Given the description of an element on the screen output the (x, y) to click on. 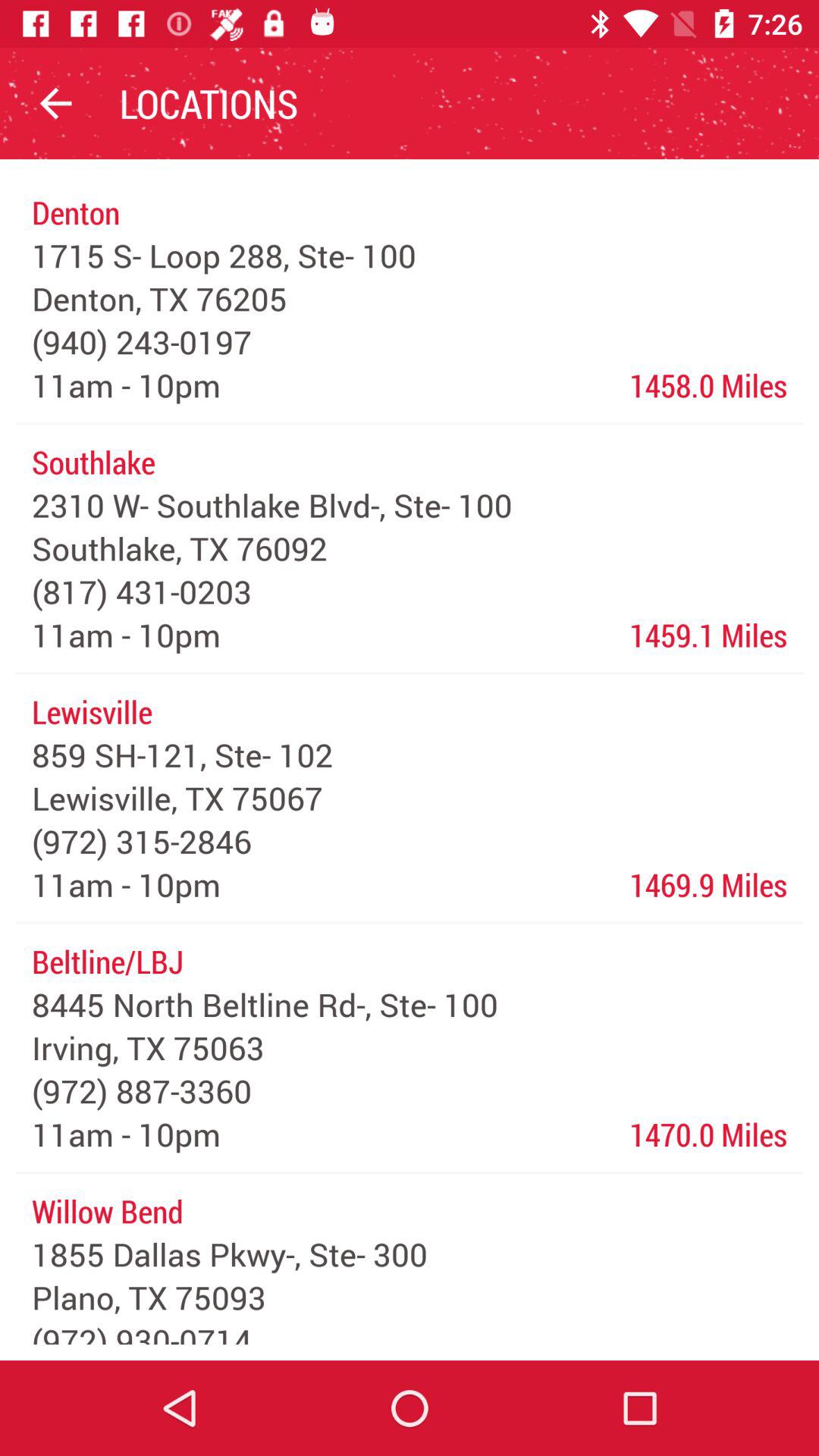
choose icon next to locations (55, 103)
